Given the description of an element on the screen output the (x, y) to click on. 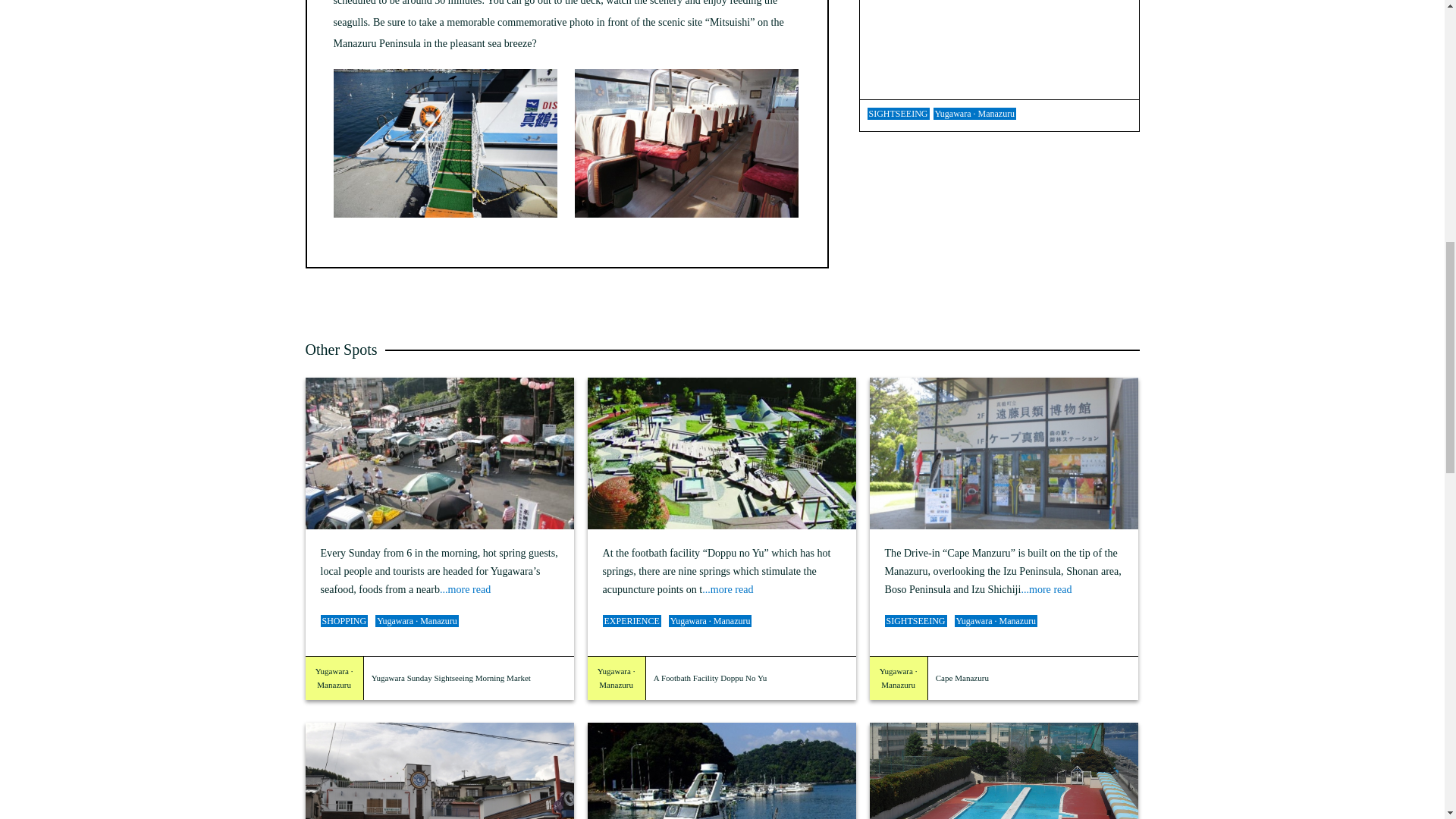
...more read (1045, 589)
SIGHTSEEING (914, 621)
...more read (464, 589)
EXPERIENCE (631, 621)
SIGHTSEEING (898, 113)
SHOPPING (344, 621)
...more read (726, 589)
